Given the description of an element on the screen output the (x, y) to click on. 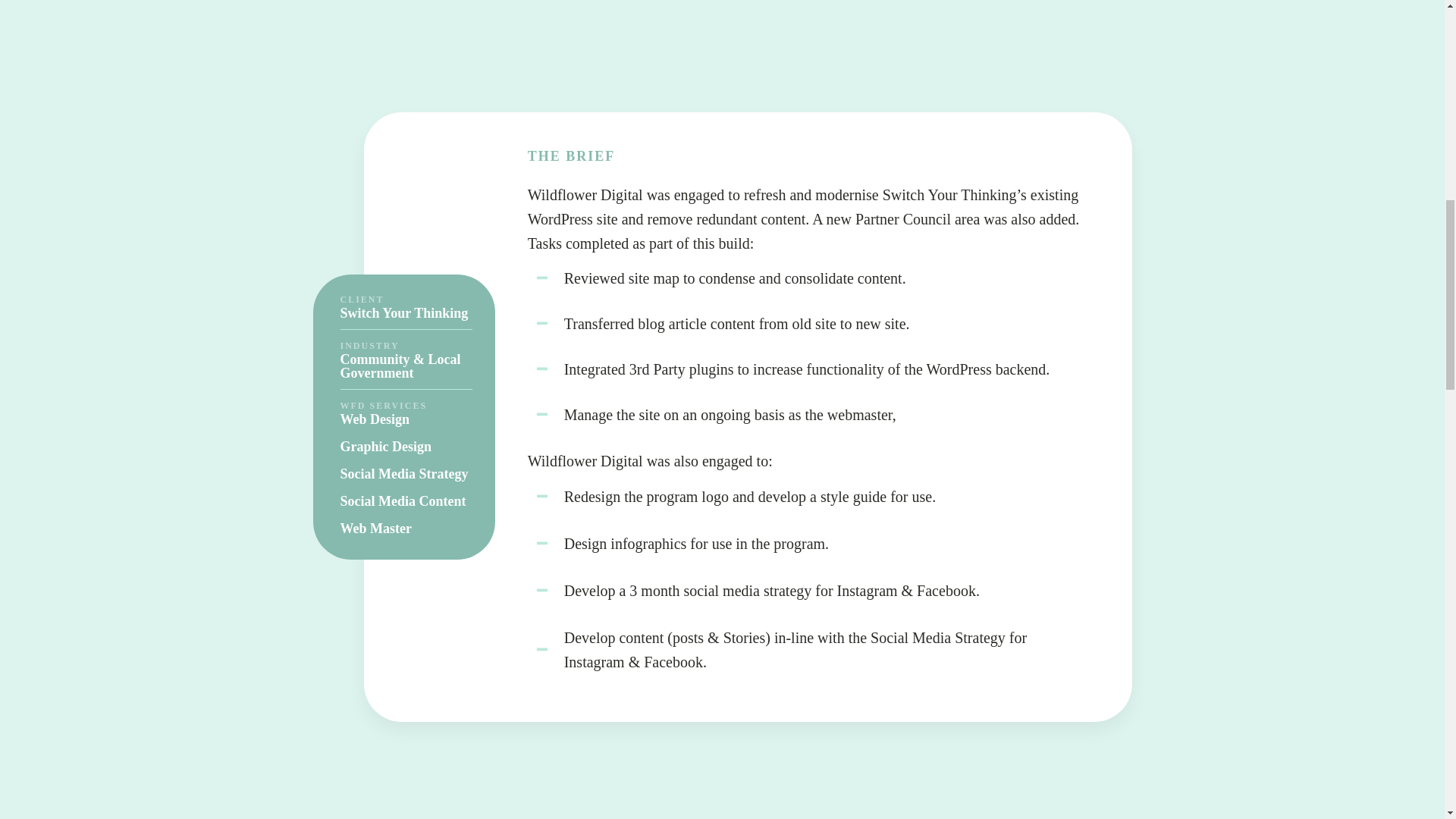
Switch Your Thinking (403, 313)
